Given the description of an element on the screen output the (x, y) to click on. 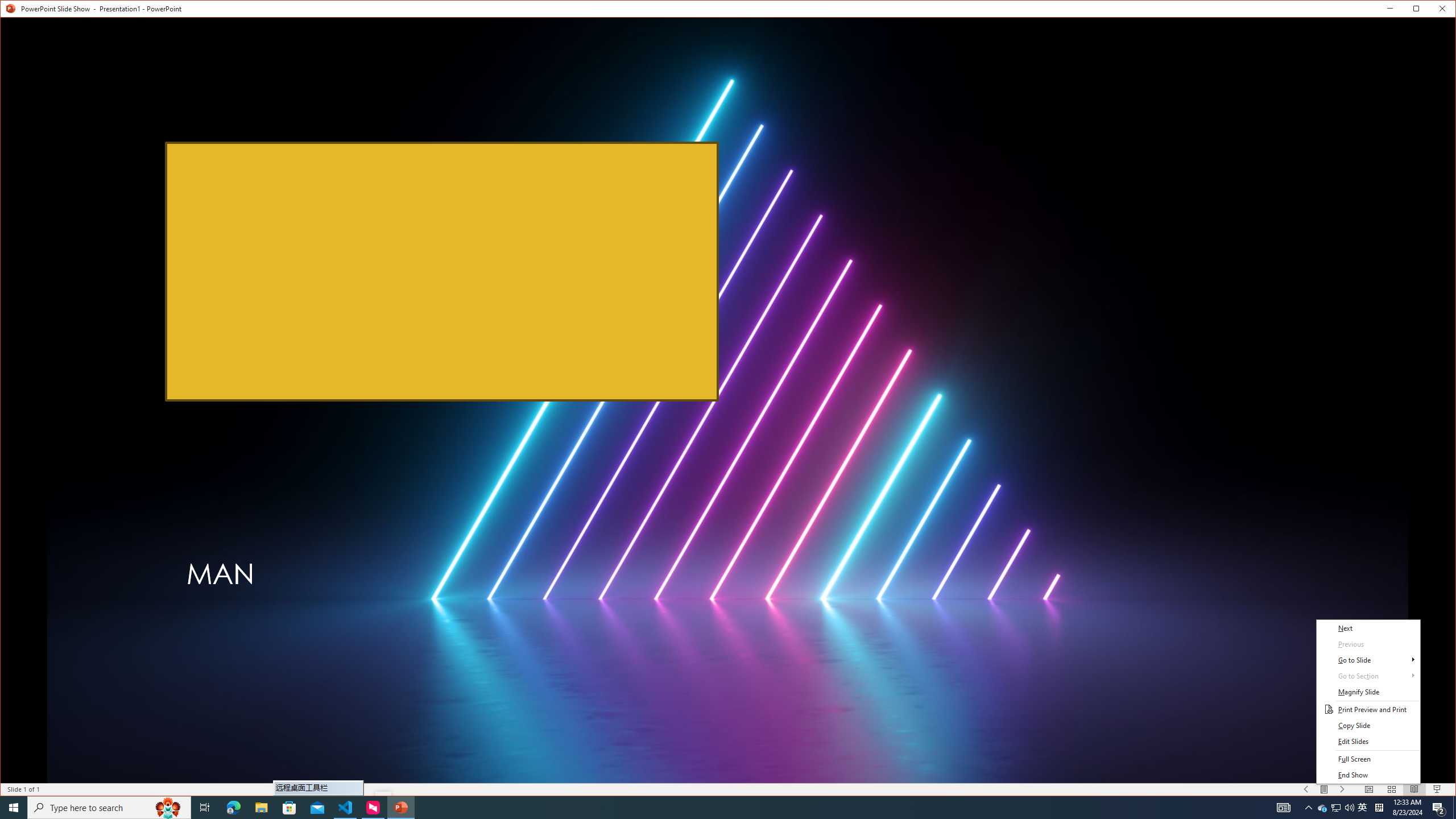
Slide Show Previous On (1306, 789)
